Given the description of an element on the screen output the (x, y) to click on. 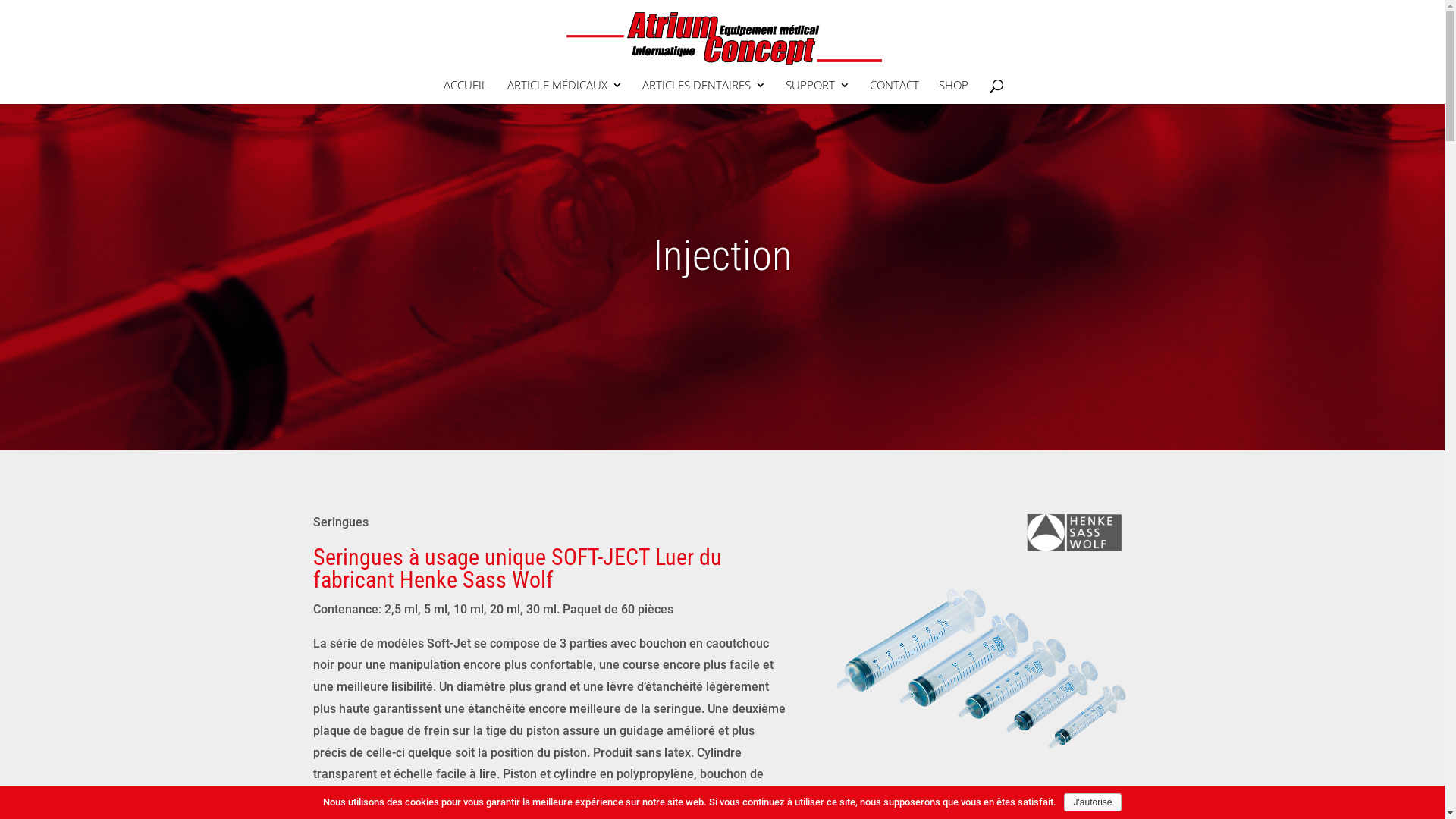
ARTICLES DENTAIRES Element type: text (703, 91)
CONTACT Element type: text (893, 91)
SUPPORT Element type: text (817, 91)
ACCUEIL Element type: text (464, 91)
SHOP Element type: text (953, 91)
J'autorise Element type: text (1092, 802)
